Given the description of an element on the screen output the (x, y) to click on. 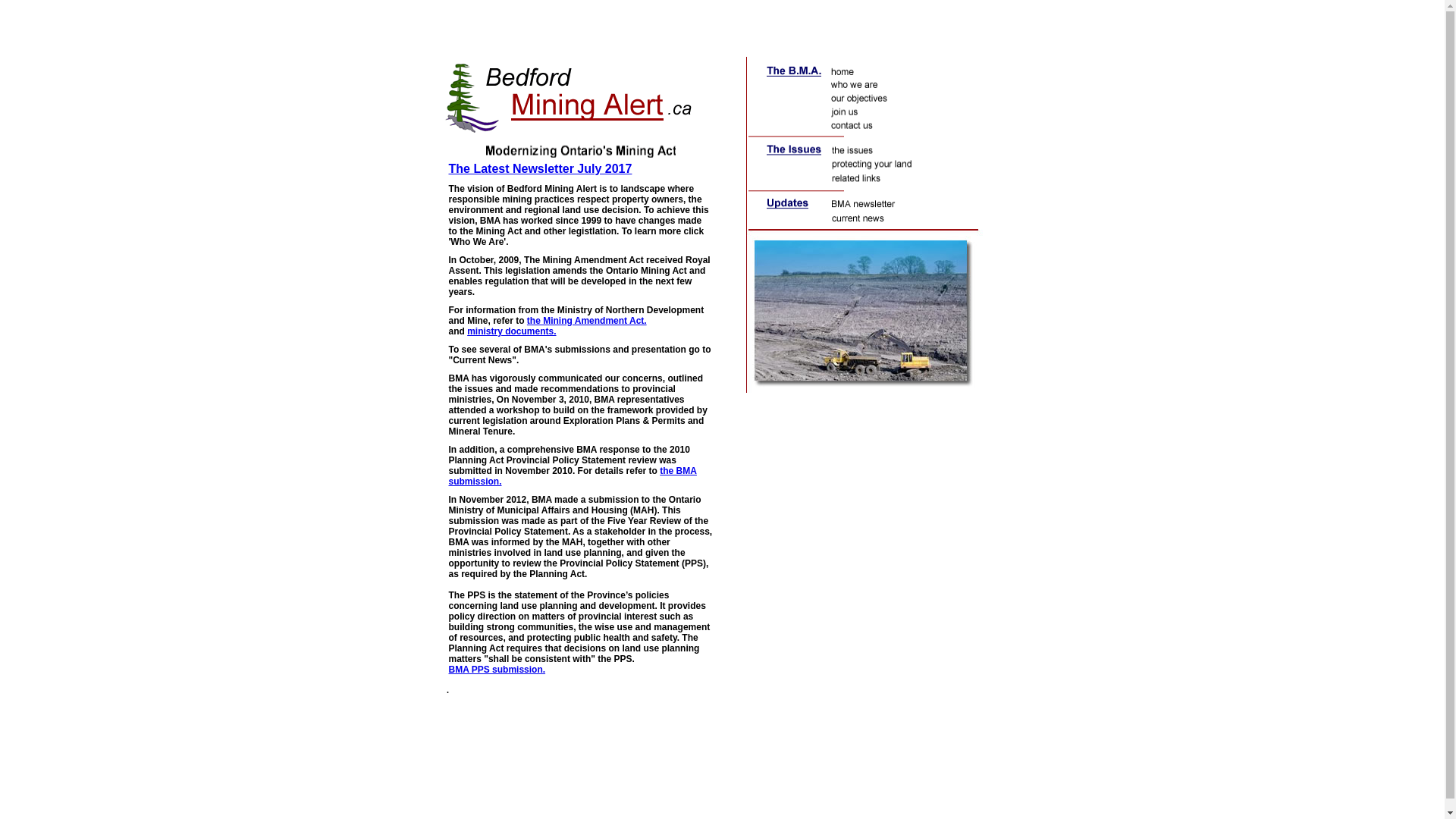
the Mining Amendment Act. Element type: text (586, 320)
BMA PPS submission. Element type: text (497, 669)
ministry documents. Element type: text (511, 331)
The Latest Newsletter July 2017 Element type: text (540, 168)
the BMA submission. Element type: text (572, 475)
